Given the description of an element on the screen output the (x, y) to click on. 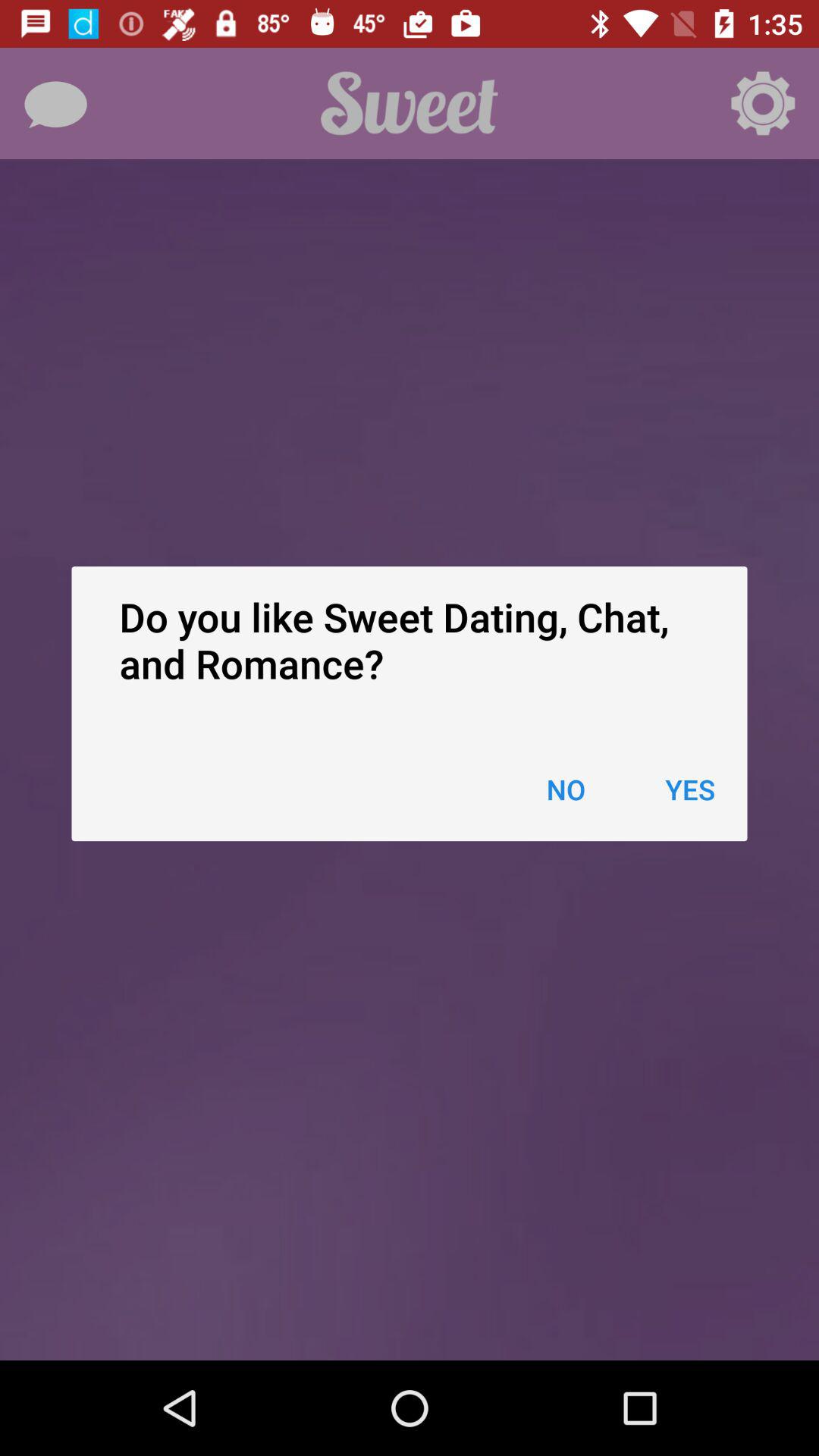
select item to the left of yes item (565, 789)
